Given the description of an element on the screen output the (x, y) to click on. 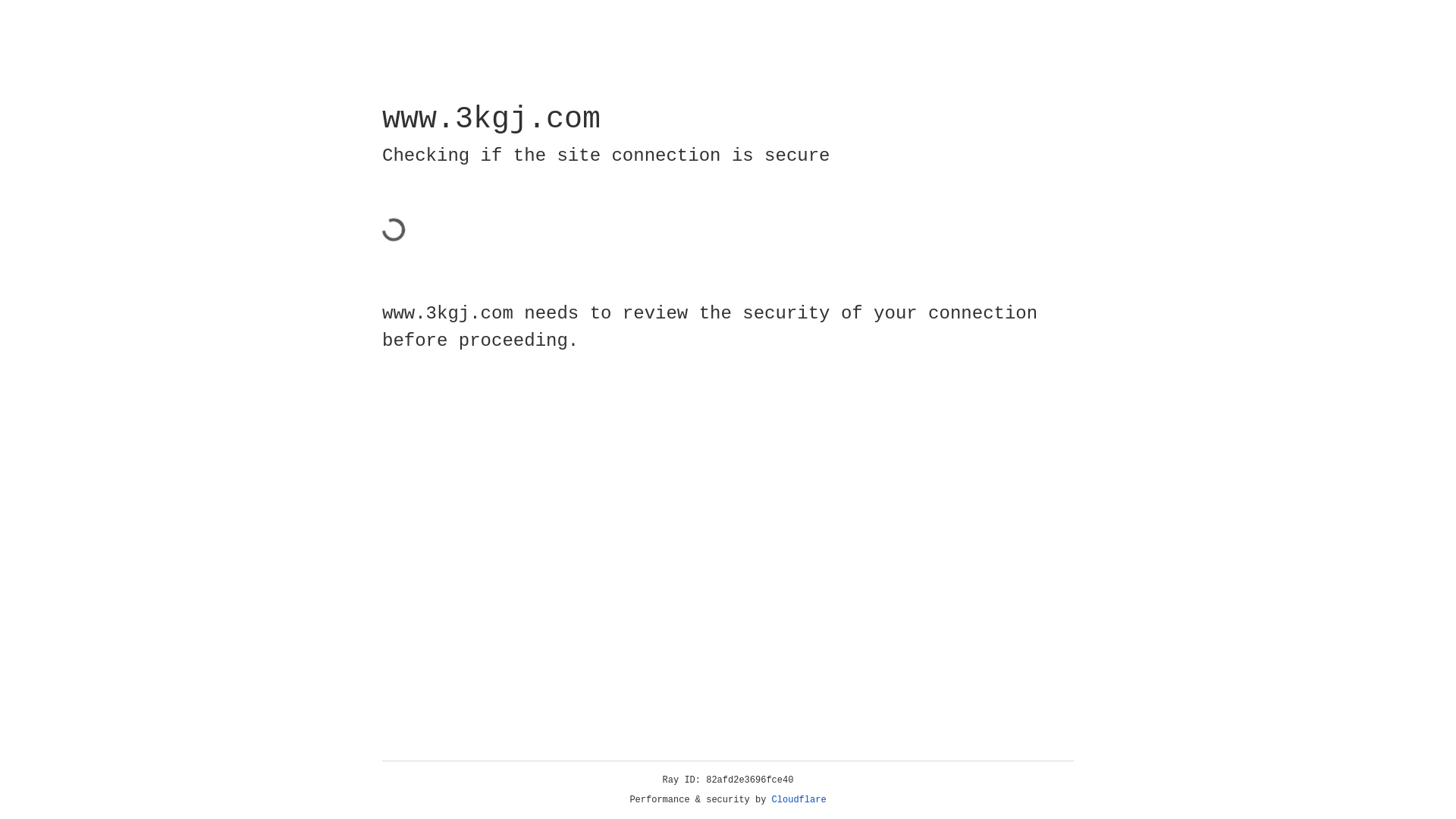
Cloudflare Element type: text (798, 799)
